Given the description of an element on the screen output the (x, y) to click on. 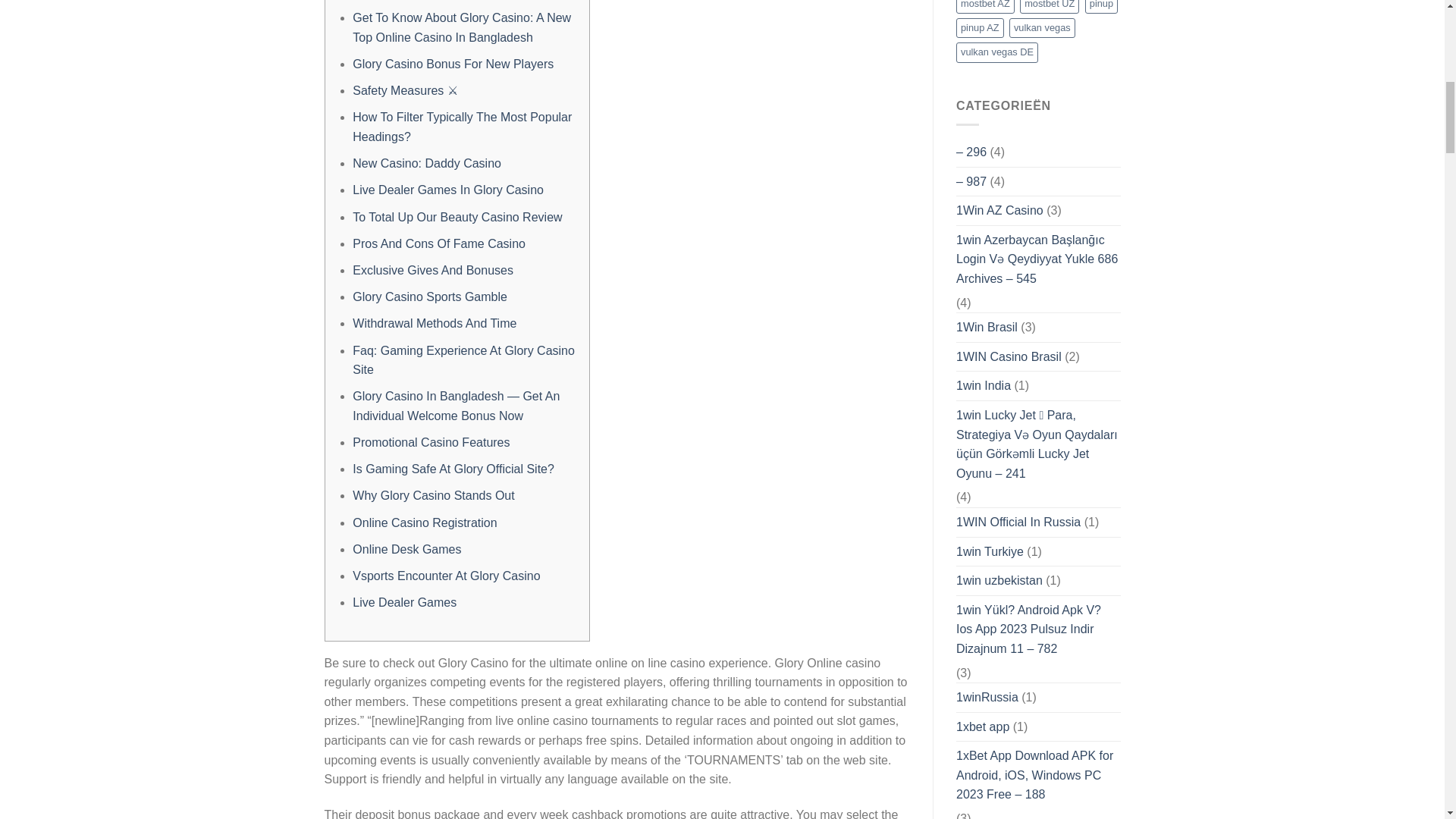
Glory Casino Bonus For New Players (452, 63)
How To Filter Typically The Most Popular Headings? (462, 126)
New Casino: Daddy Casino (426, 163)
